Given the description of an element on the screen output the (x, y) to click on. 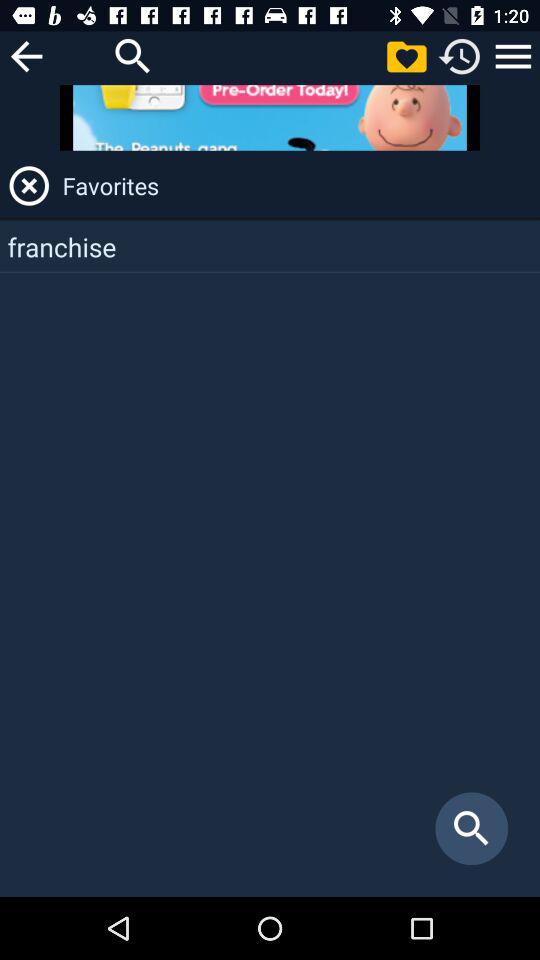
menu button (513, 56)
